Given the description of an element on the screen output the (x, y) to click on. 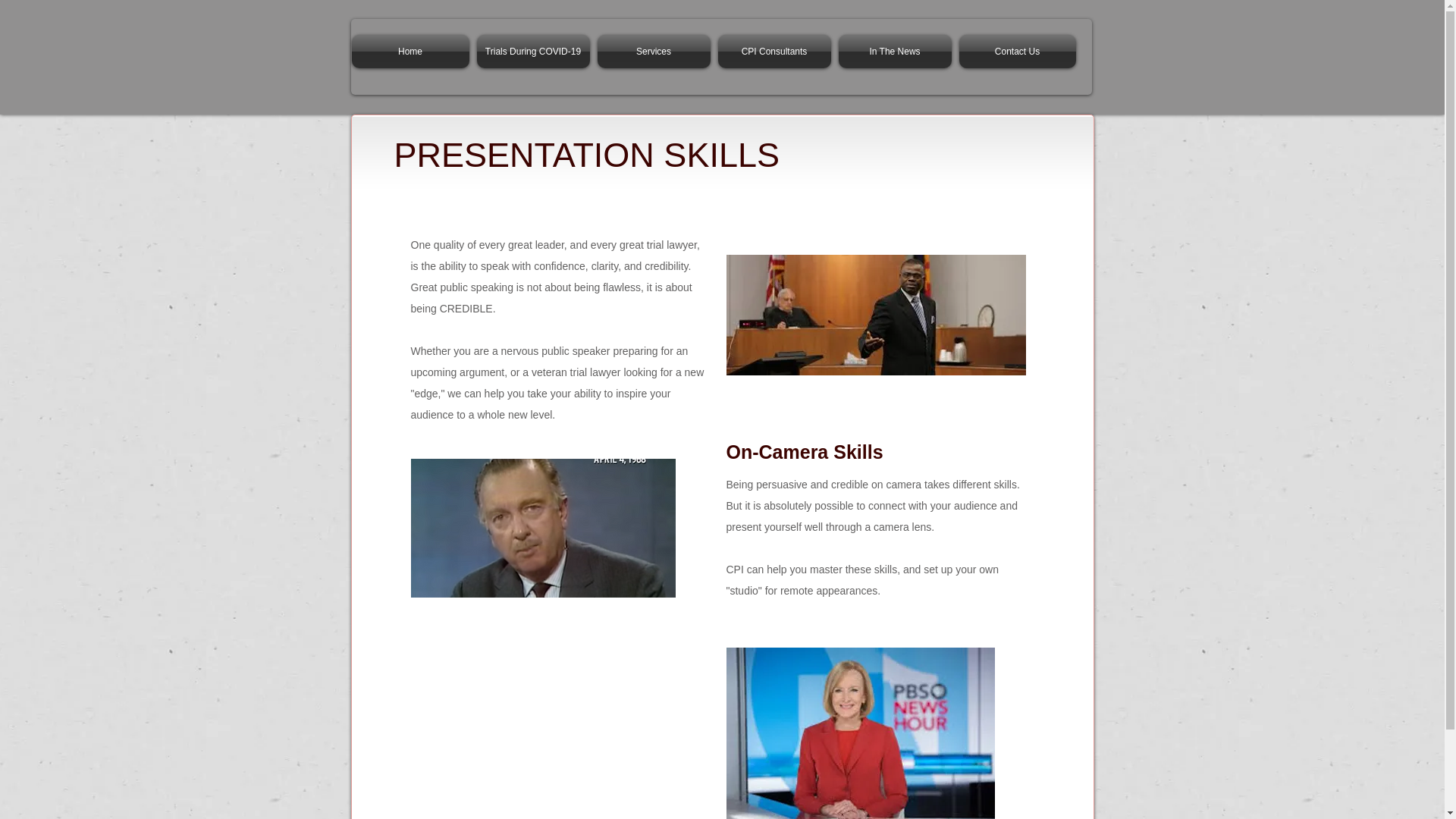
Trials During COVID-19 (533, 51)
In The News (894, 51)
PBS Newscaster.jpg (860, 733)
lawyer.jpg (876, 314)
Contact Us (1015, 51)
Home (412, 51)
CPI Consultants (774, 51)
cronkite-1.png (542, 527)
